Given the description of an element on the screen output the (x, y) to click on. 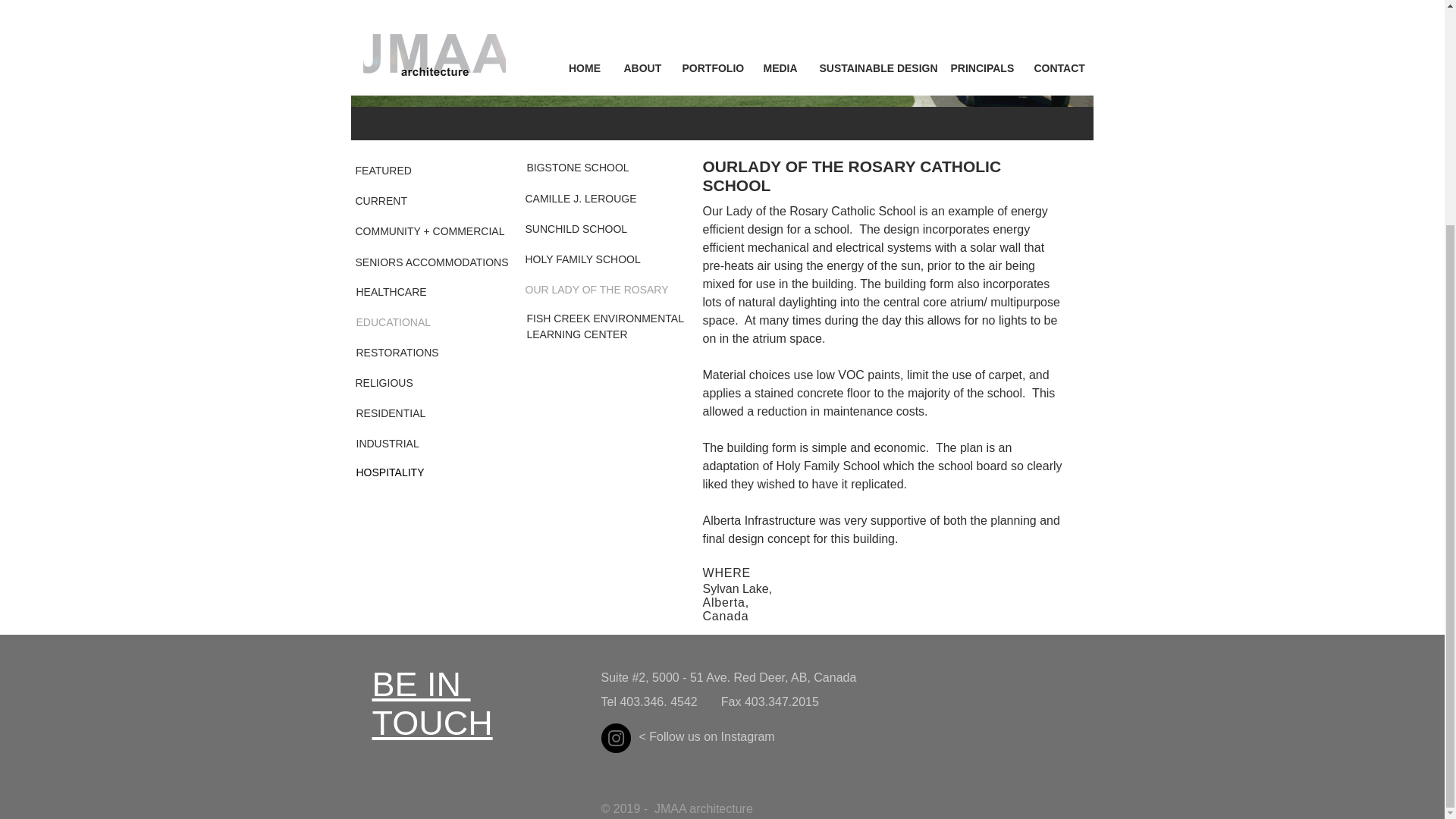
HEALTHCARE (410, 292)
FISH CREEK ENVIRONMENTAL (603, 318)
HOLY FAMILY SCHOOL (582, 259)
CURRENT (431, 703)
FEATURED (409, 201)
EDUCATIONAL (409, 171)
RESTORATIONS (410, 322)
LEARNING CENTER (410, 353)
RELIGIOUS (576, 334)
